Given the description of an element on the screen output the (x, y) to click on. 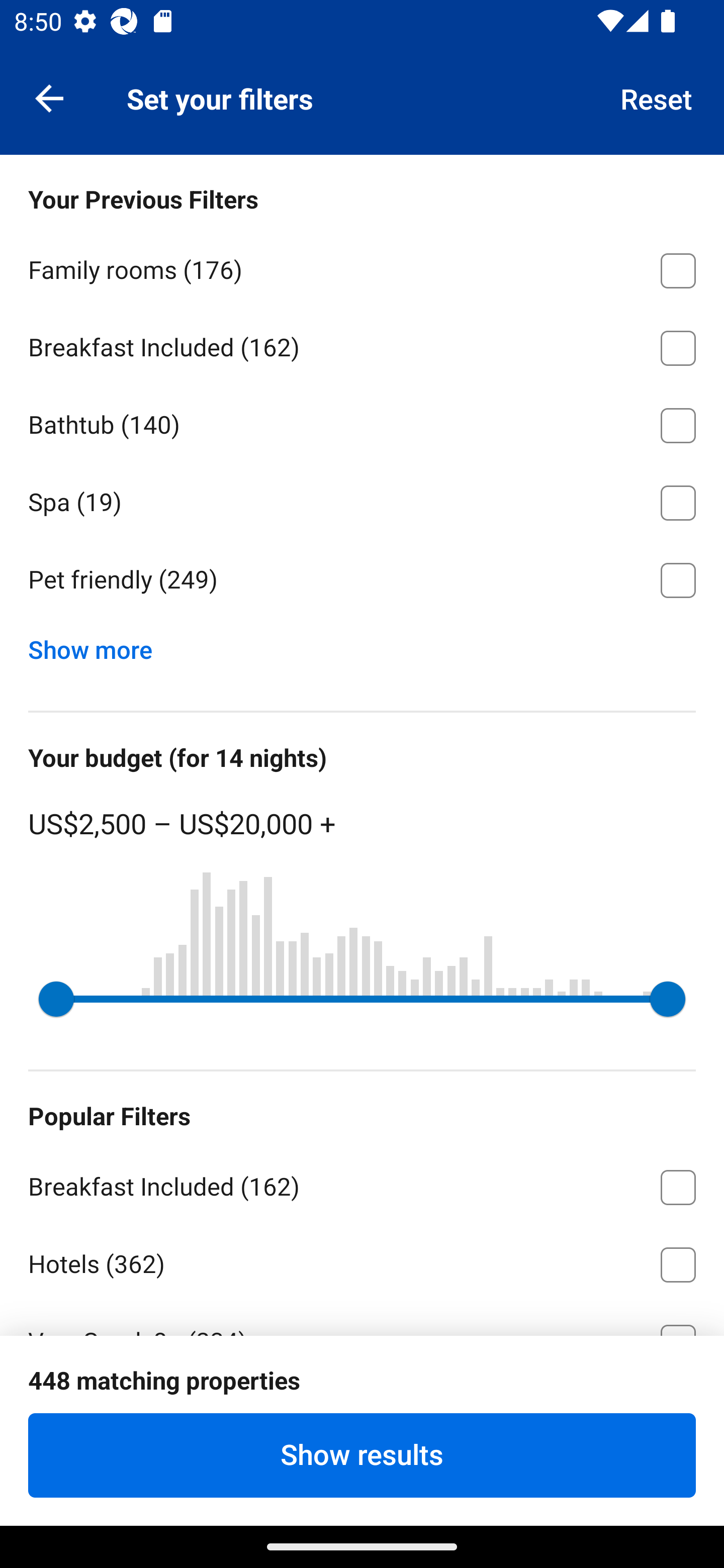
Navigate up (49, 97)
Reset (656, 97)
Family rooms ⁦(176) (361, 266)
Breakfast Included ⁦(162) (361, 344)
Bathtub ⁦(140) (361, 422)
Spa ⁦(19) (361, 498)
Pet friendly ⁦(249) (361, 579)
Show more (97, 645)
Breakfast Included ⁦(162) (361, 1183)
Hotels ⁦(362) (361, 1261)
Show results (361, 1454)
